Given the description of an element on the screen output the (x, y) to click on. 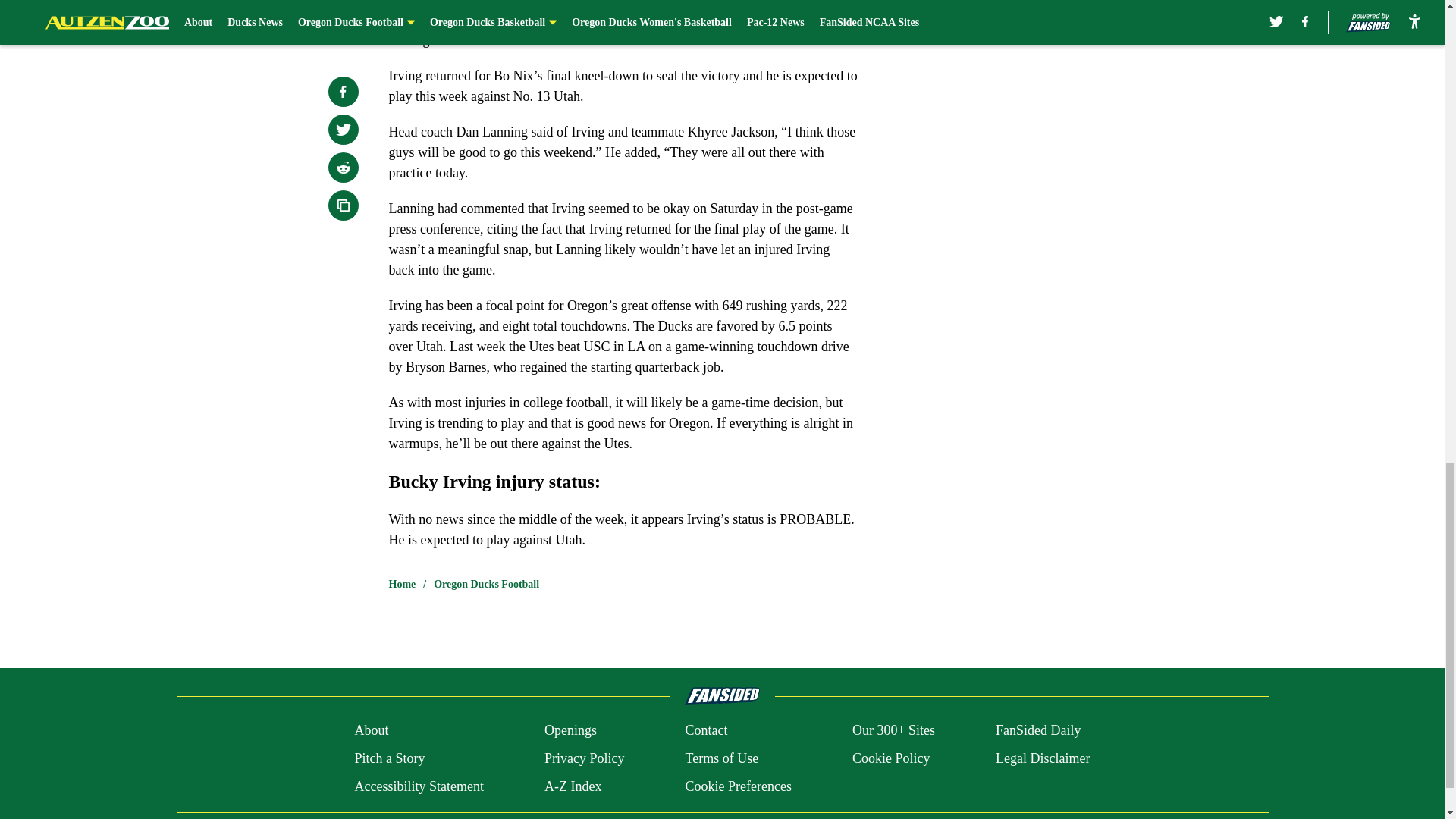
Privacy Policy (584, 758)
About (370, 730)
Terms of Use (721, 758)
Home (401, 584)
Pitch a Story (389, 758)
Cookie Preferences (737, 786)
A-Z Index (572, 786)
Cookie Policy (890, 758)
Openings (570, 730)
Contact (705, 730)
